Given the description of an element on the screen output the (x, y) to click on. 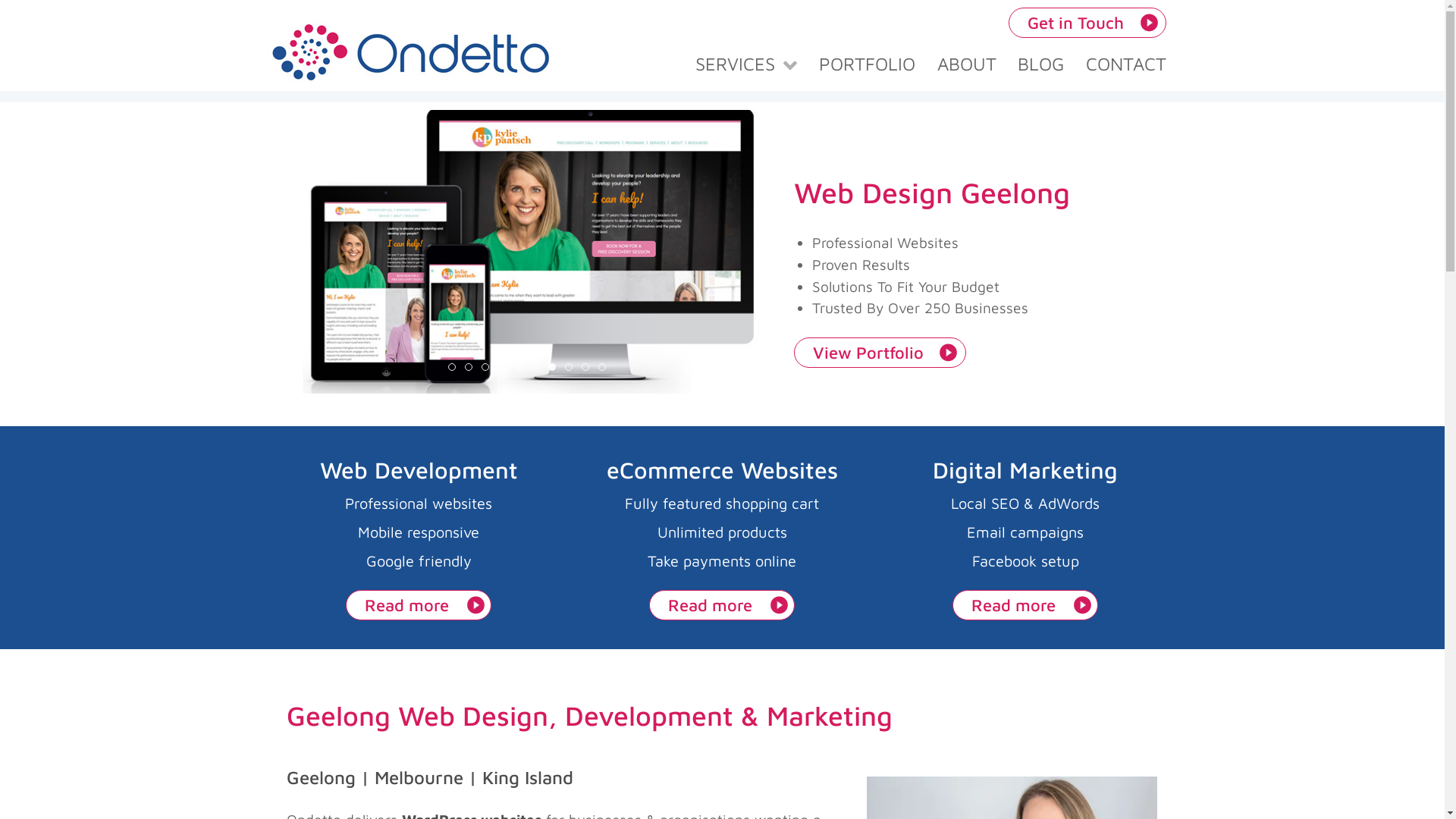
Market Square Element type: text (467, 366)
CONTACT Element type: text (1126, 62)
Read more Element type: text (418, 604)
Read more Element type: text (721, 604)
Energy Tips Geelong Element type: text (517, 366)
View Portfolio Element type: text (879, 352)
M&M Reed Element type: text (567, 366)
Rent My Bike Element type: text (584, 366)
ABOUT Element type: text (966, 62)
SERVICES Element type: text (746, 62)
Active Medical Element type: text (501, 366)
Kylie Paatsch Element type: text (551, 366)
Rosewall Community Centre Element type: text (601, 366)
Hat Atelier Element type: text (451, 366)
Get in Touch Element type: text (1087, 22)
PORTFOLIO Element type: text (866, 62)
Succession Legal Element type: text (484, 366)
BLOG Element type: text (1041, 62)
Read more Element type: text (1025, 604)
King Island Council Element type: text (534, 366)
